Given the description of an element on the screen output the (x, y) to click on. 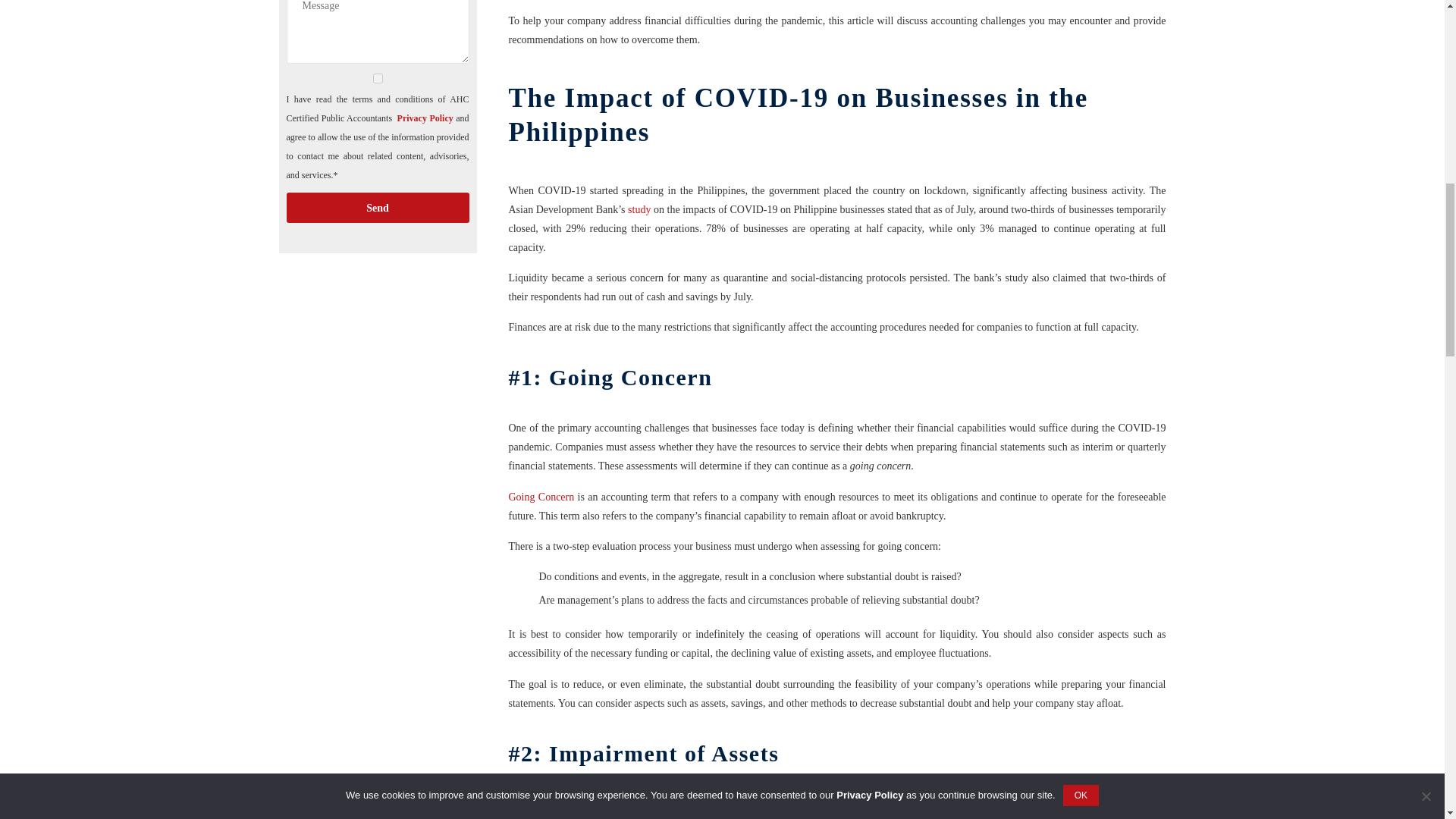
study (638, 209)
Going Concern (540, 496)
impairment indicators (719, 817)
Send (377, 207)
